Given the description of an element on the screen output the (x, y) to click on. 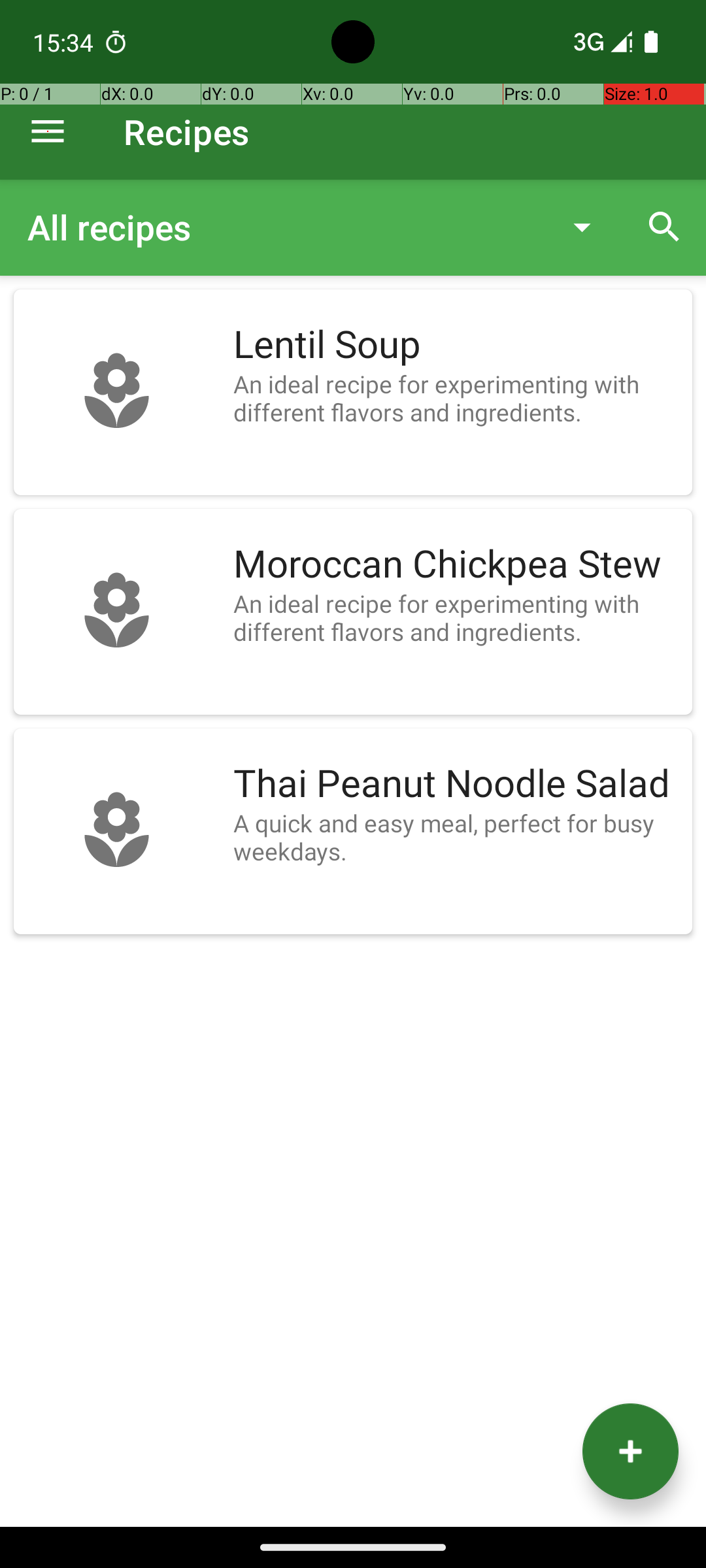
Thai Peanut Noodle Salad Element type: android.widget.TextView (455, 783)
